Given the description of an element on the screen output the (x, y) to click on. 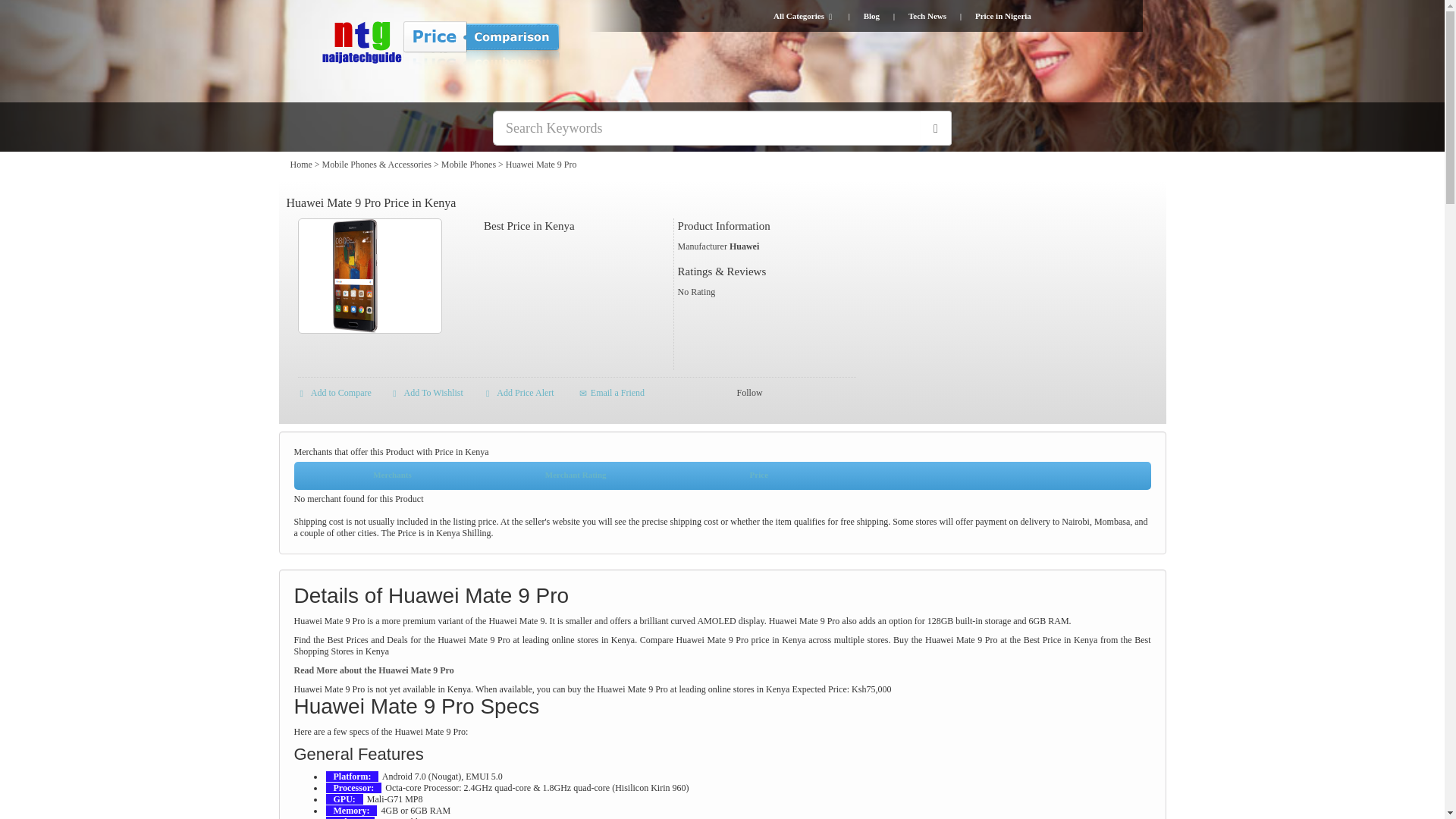
Add Price Alert (520, 392)
Tech News (927, 15)
Huawei Mate 9 Pro (540, 163)
Home (300, 163)
Email a Friend (612, 392)
Mobile Phones (468, 163)
Add Price Alert (520, 392)
Follow (749, 392)
Blog (871, 15)
Add To Wishlist (428, 392)
